Given the description of an element on the screen output the (x, y) to click on. 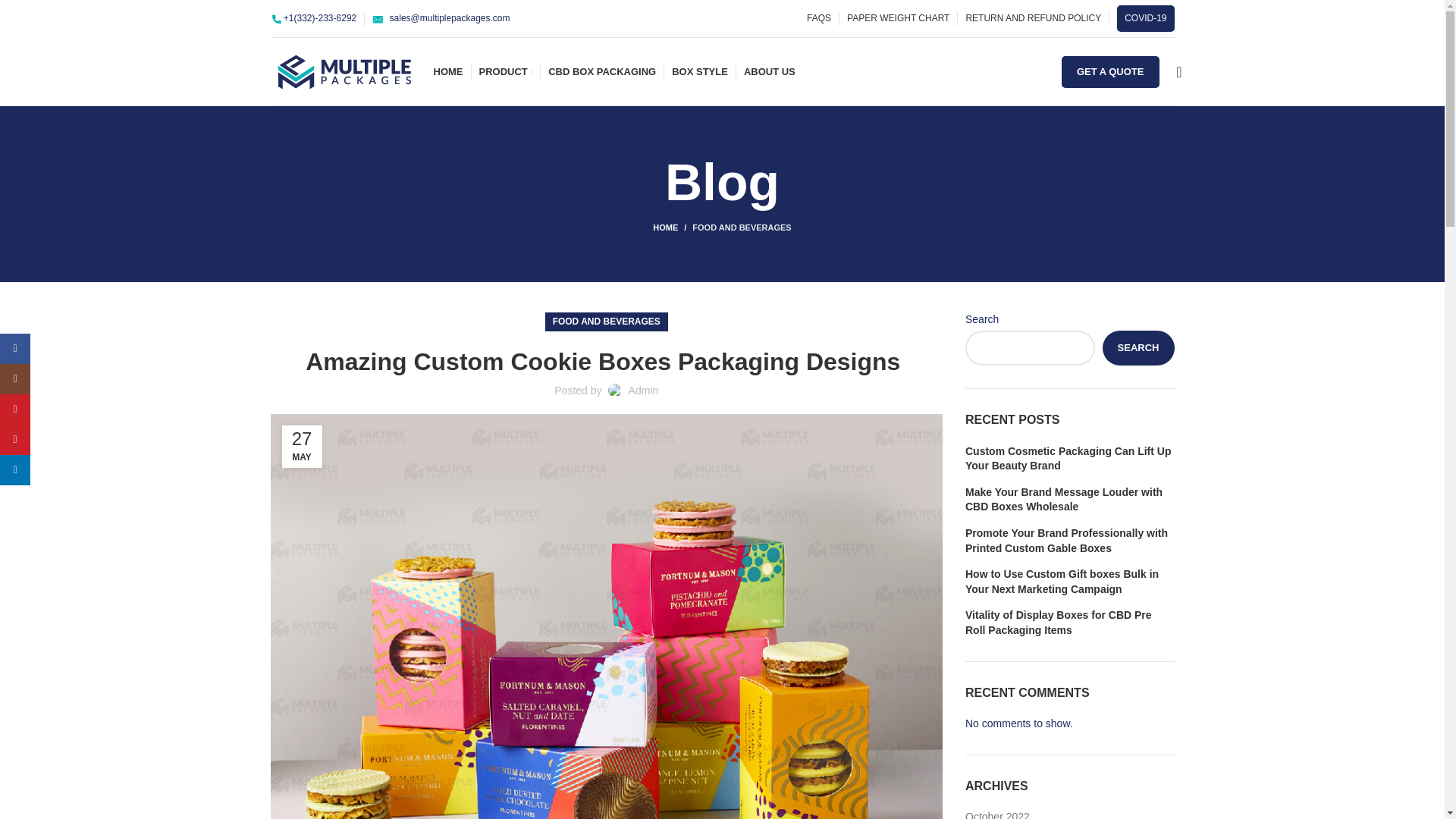
RETURN AND REFUND POLICY (1032, 18)
PRODUCT (505, 71)
HOME (448, 71)
PAPER WEIGHT CHART (898, 18)
COVID-19 (1144, 18)
